Given the description of an element on the screen output the (x, y) to click on. 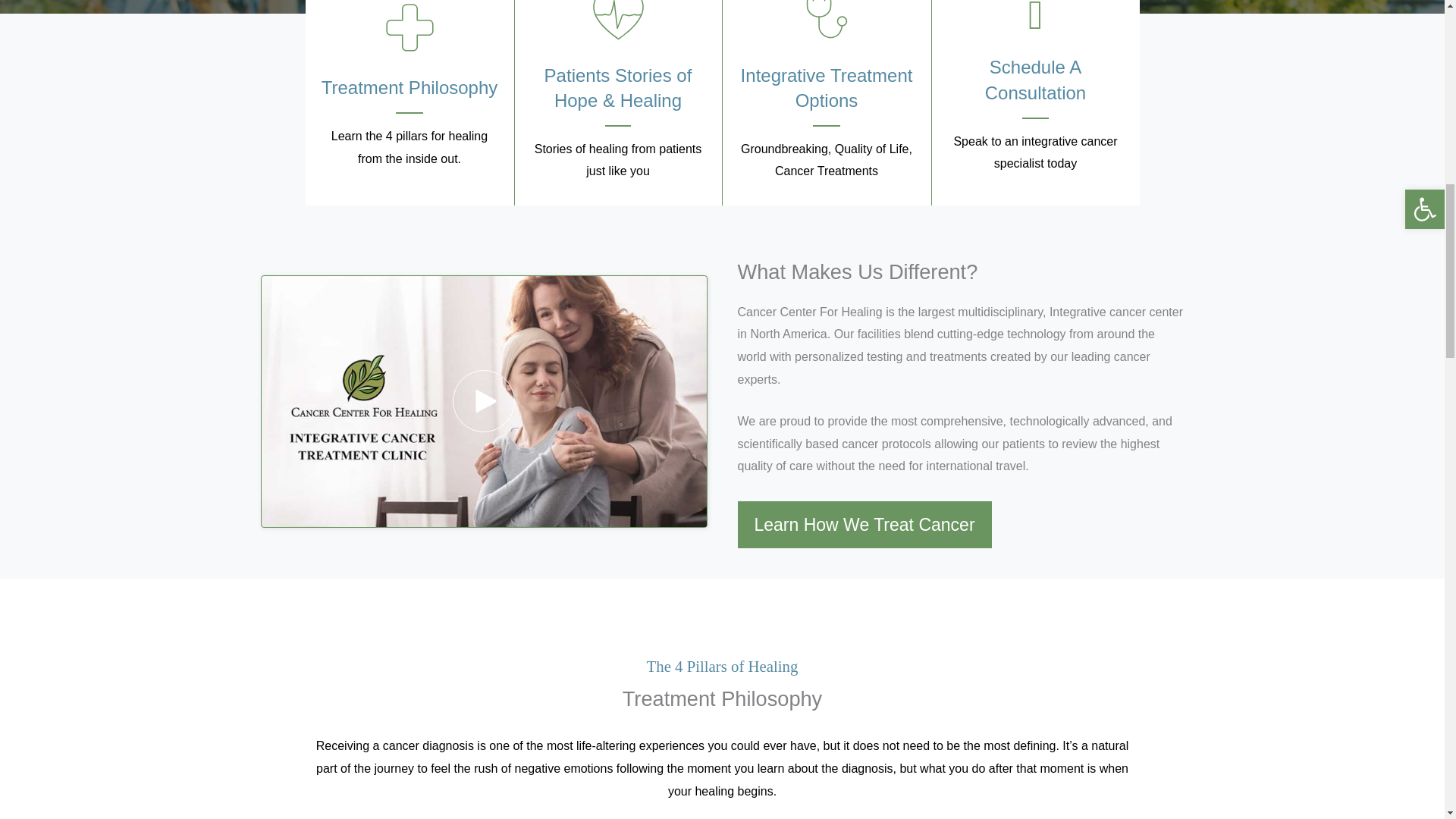
Medical Icon - Stroke - 0009 - Green (825, 22)
Medical Icon - Stroke - 0017 - Green (409, 28)
Medical Icon - Stroke - 0027 - Green (617, 22)
